Given the description of an element on the screen output the (x, y) to click on. 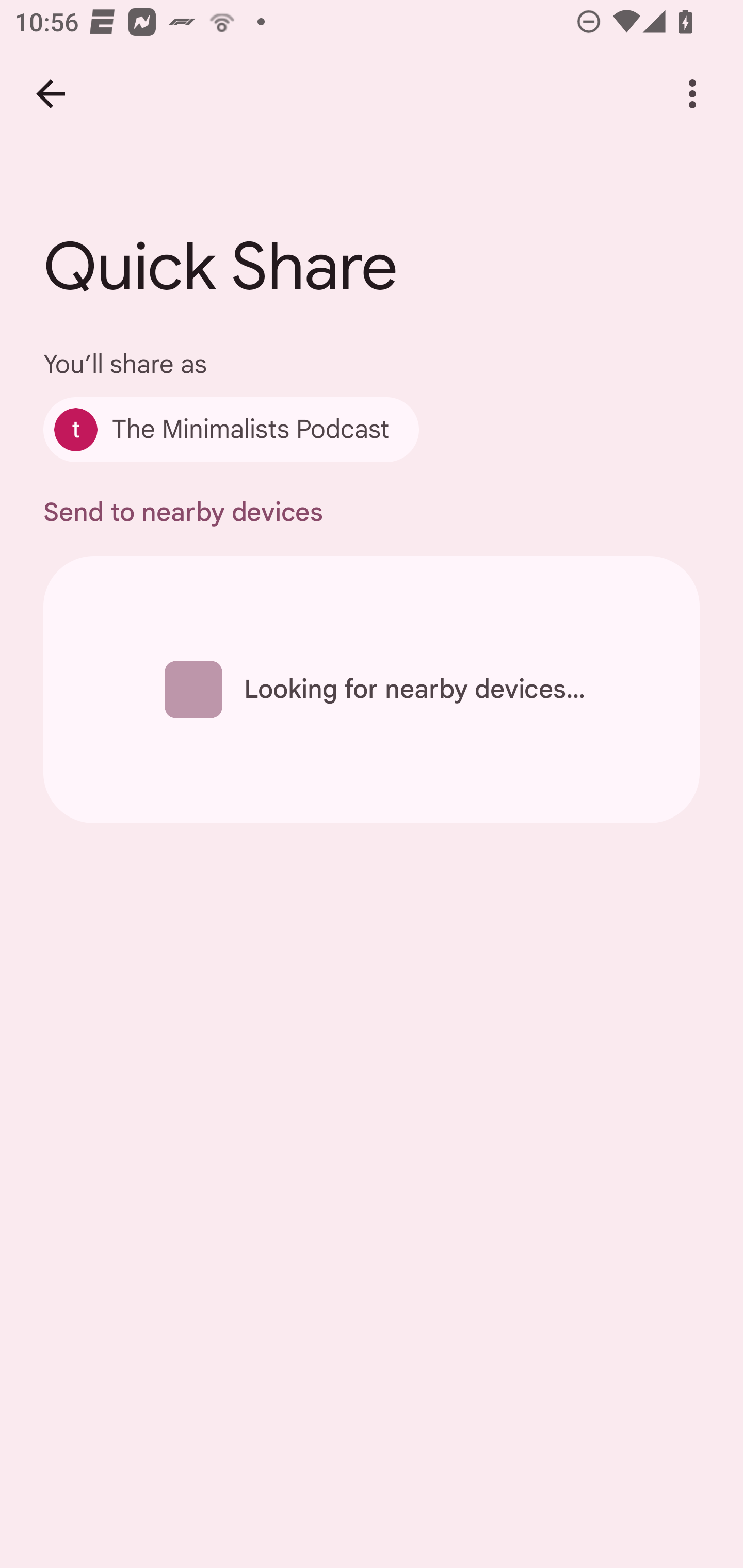
Back (50, 93)
More (692, 93)
The Minimalists Podcast (231, 429)
